Given the description of an element on the screen output the (x, y) to click on. 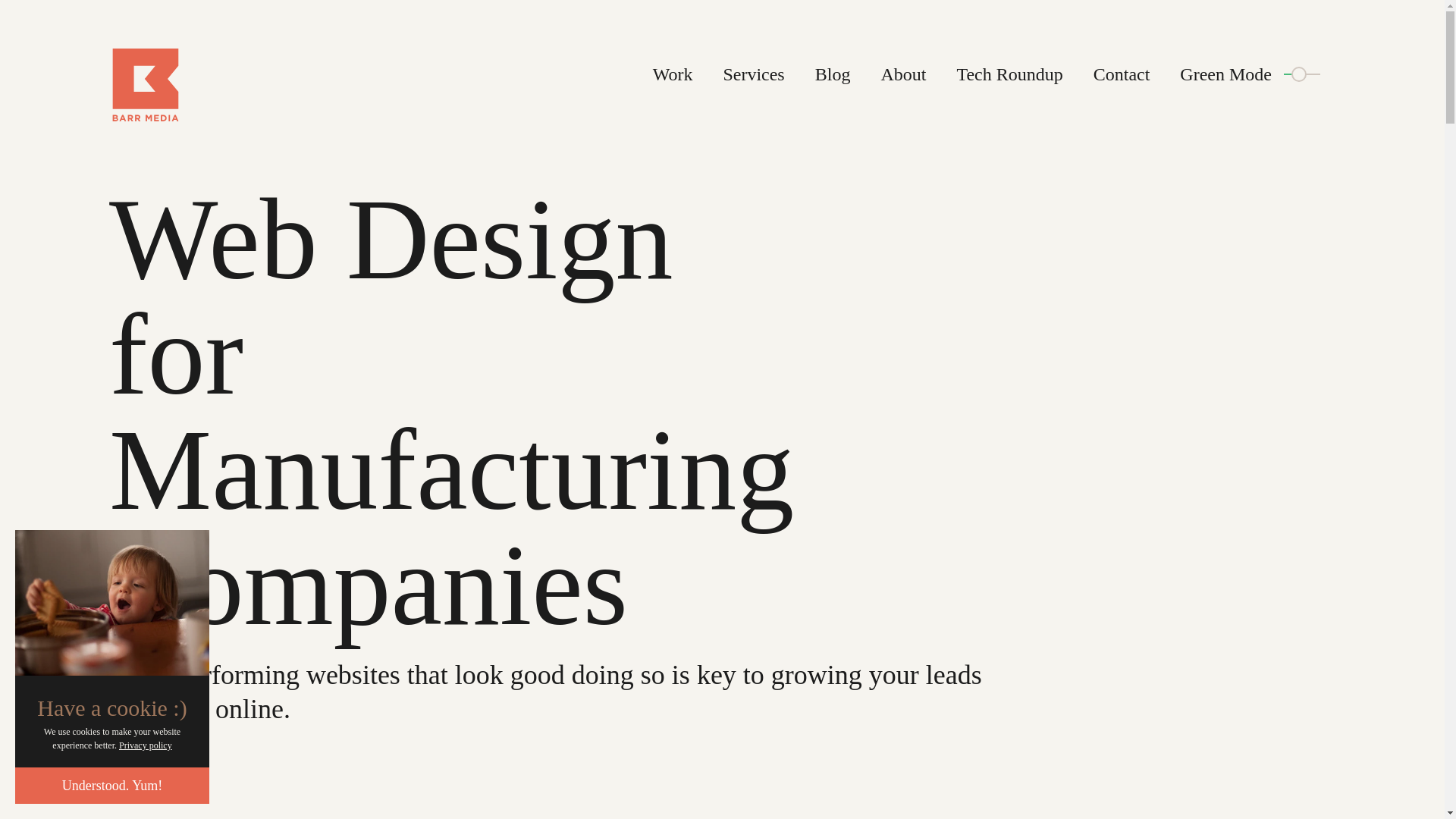
Contact (1121, 74)
Tech Roundup (1009, 74)
Blog (832, 74)
Work (672, 74)
Services (753, 74)
About (903, 74)
Privacy policy (145, 745)
